Given the description of an element on the screen output the (x, y) to click on. 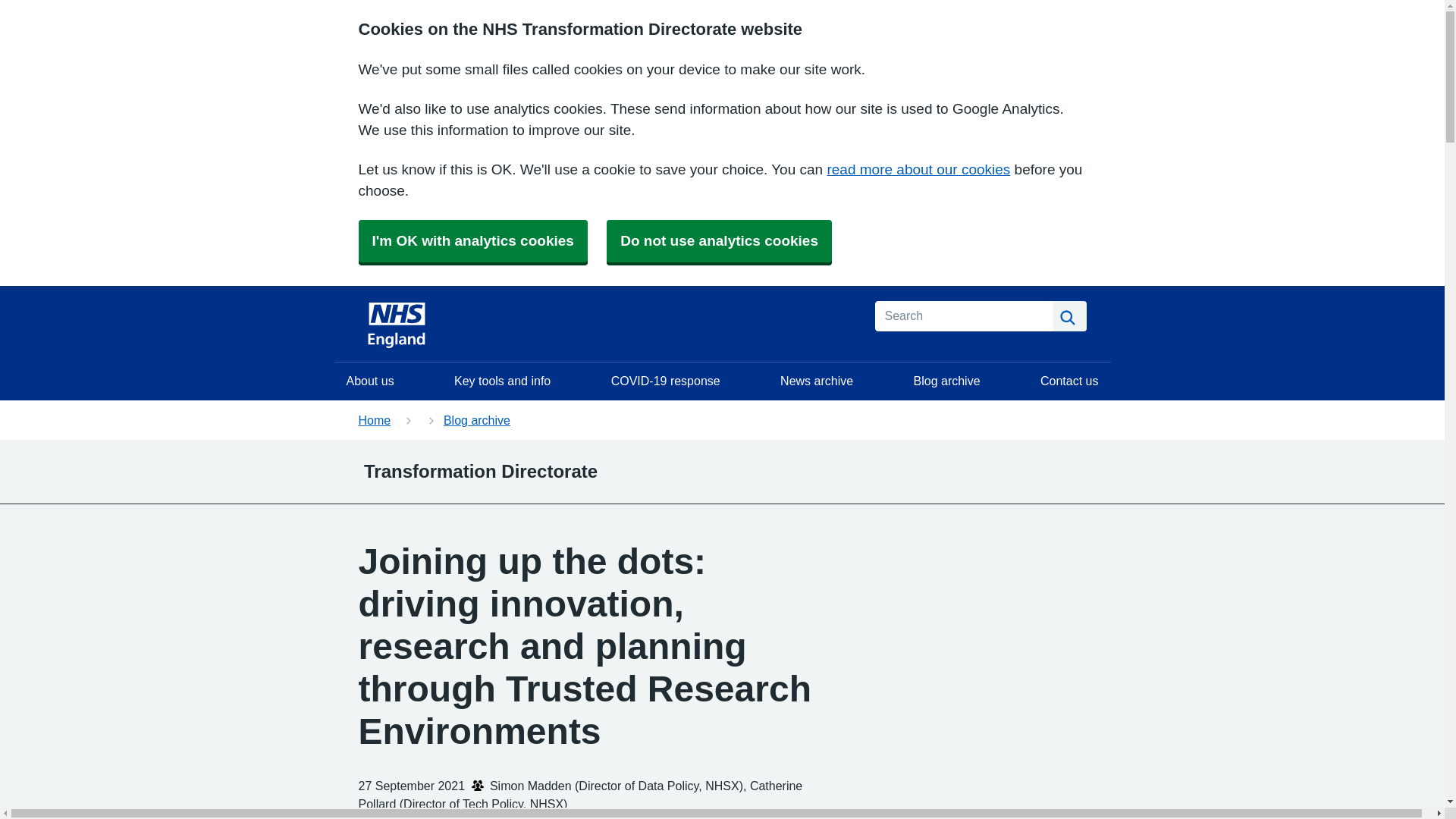
Blog archive (946, 381)
Do not use analytics cookies (719, 241)
Search (1069, 316)
About us (369, 381)
Contact us (1068, 381)
Home (374, 420)
News archive (816, 381)
read more about our cookies (918, 169)
COVID-19 response (665, 381)
I'm OK with analytics cookies (472, 241)
